Given the description of an element on the screen output the (x, y) to click on. 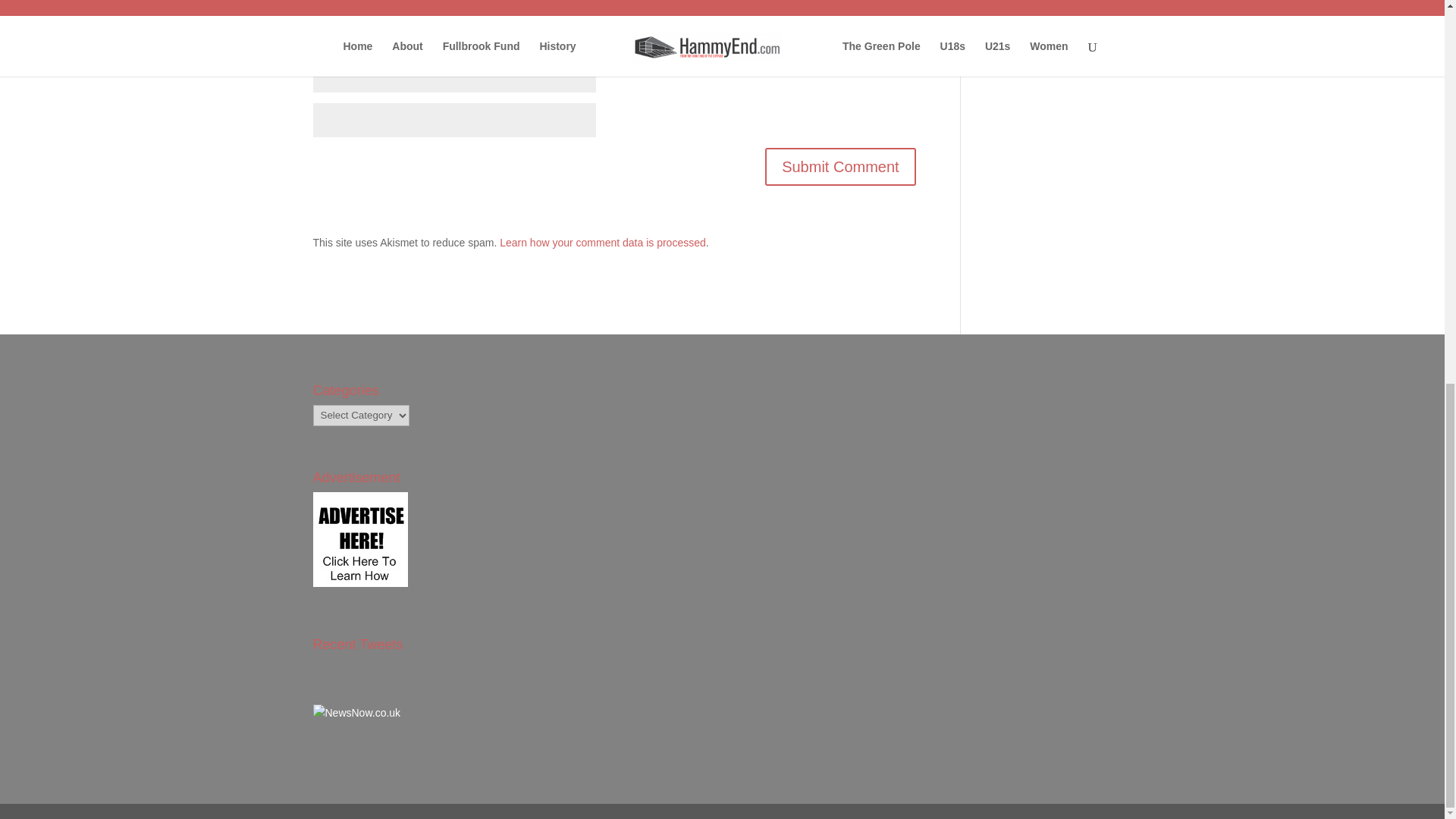
Submit Comment (840, 166)
